Given the description of an element on the screen output the (x, y) to click on. 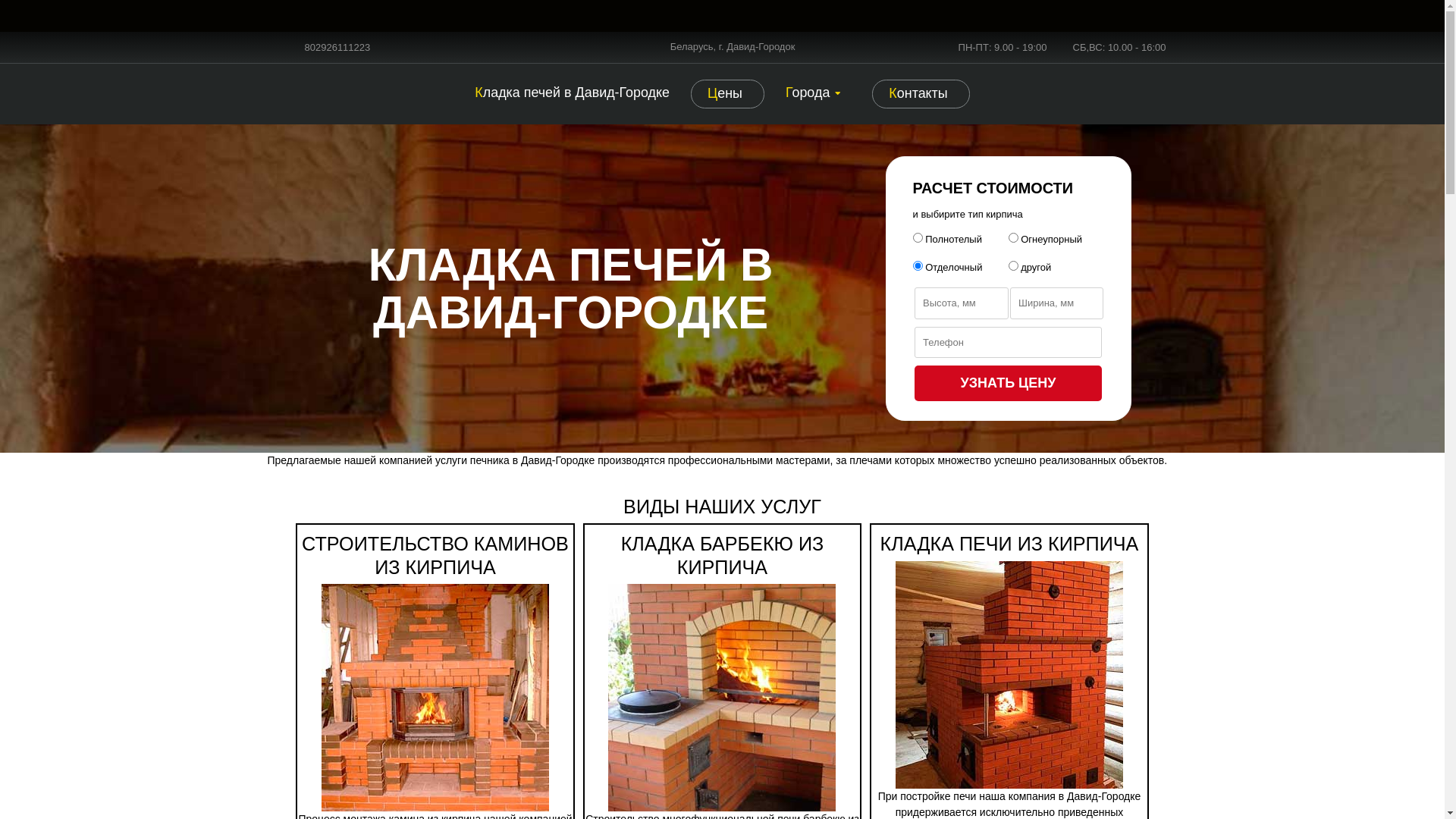
802926111223 Element type: text (337, 47)
